Given the description of an element on the screen output the (x, y) to click on. 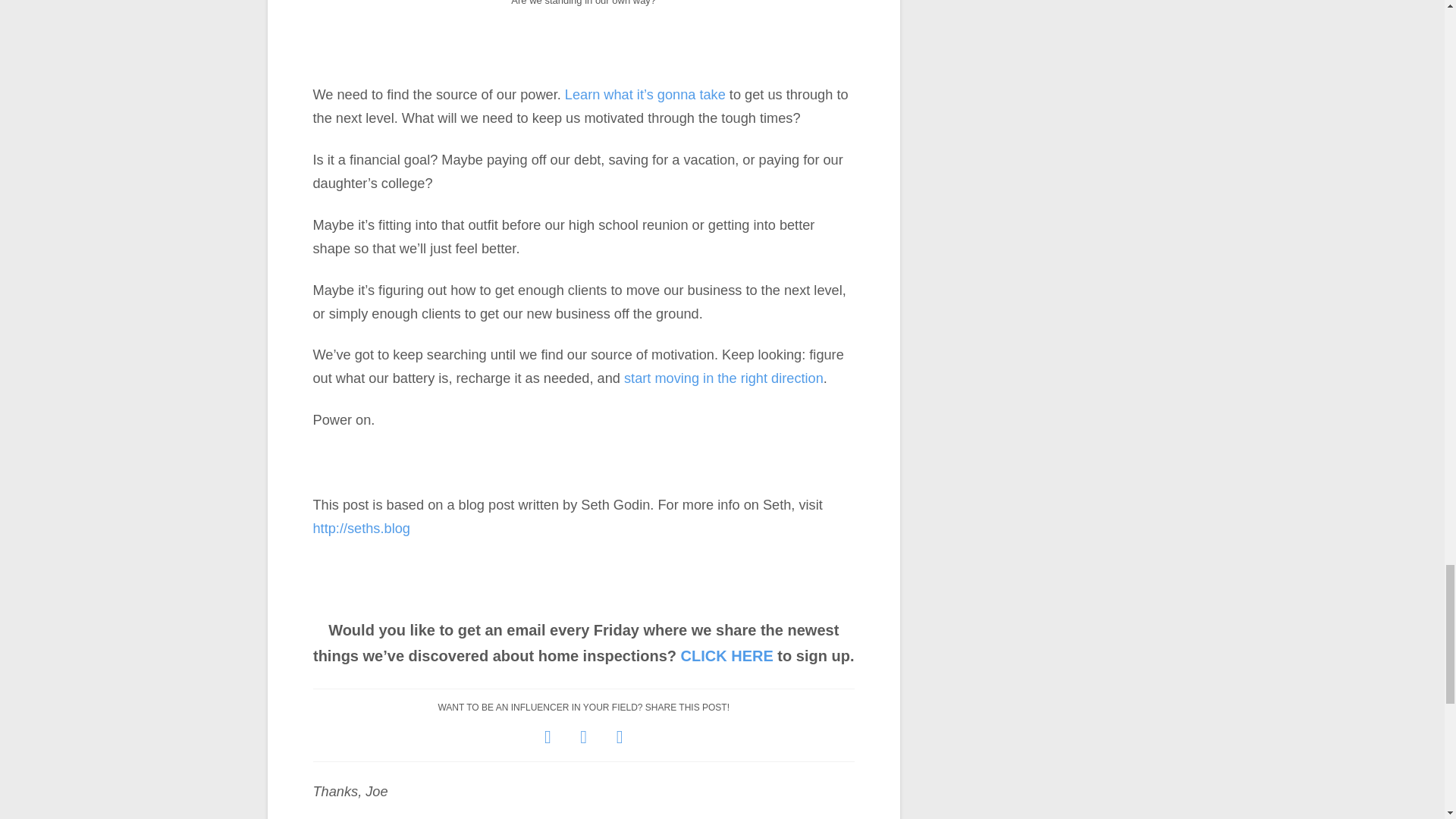
HERE (751, 655)
start moving in the right direction (724, 378)
CLICK (703, 655)
